Given the description of an element on the screen output the (x, y) to click on. 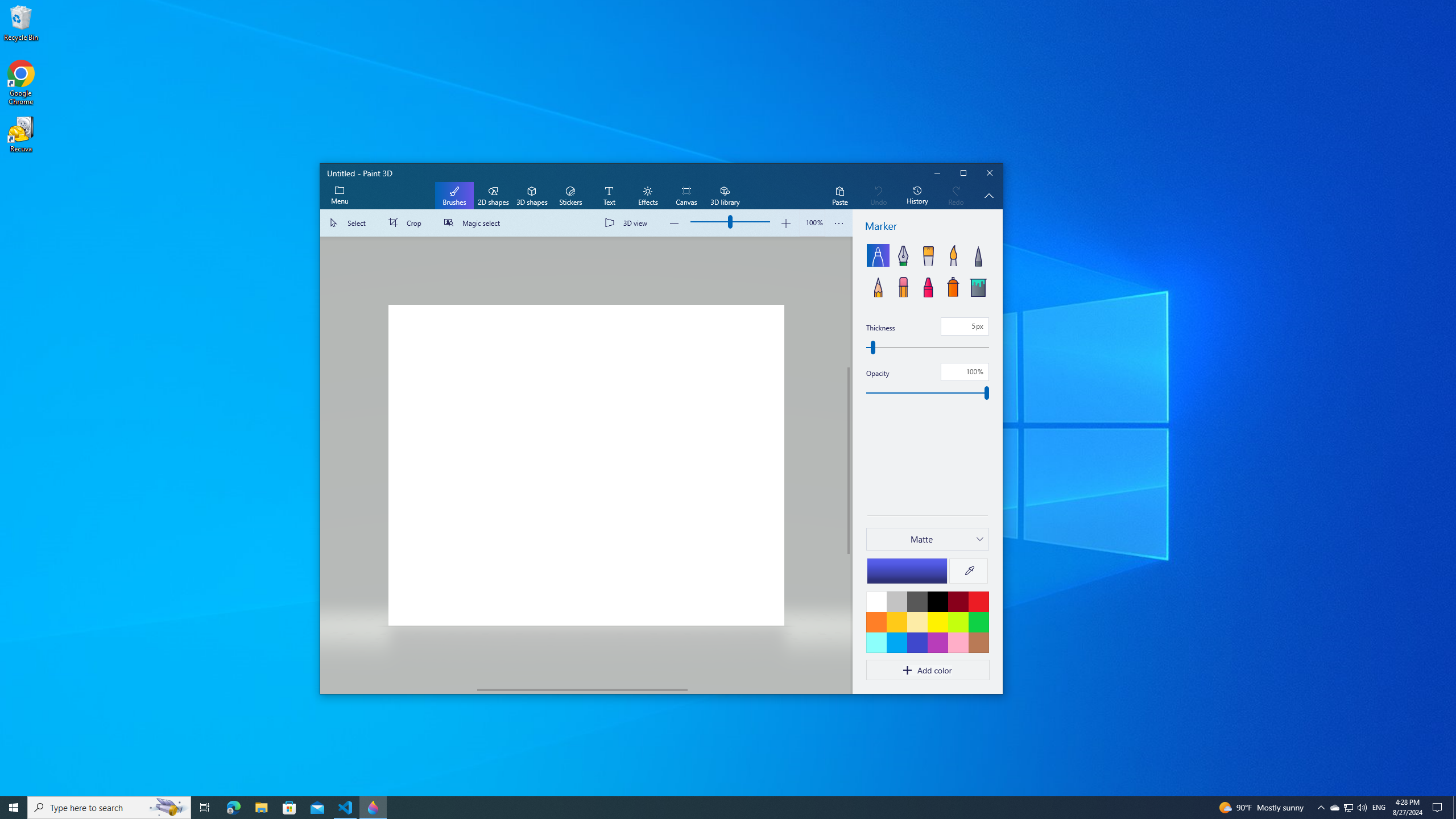
Marker (877, 255)
Thickness, pixels (964, 326)
Effects (647, 195)
Redo (955, 195)
Dark red (957, 601)
Opacity, percent (927, 393)
Zoom out (674, 222)
Calligraphy pen (902, 255)
Rose (957, 642)
History (917, 195)
Expand menu (339, 195)
Zoom in (785, 222)
